Given the description of an element on the screen output the (x, y) to click on. 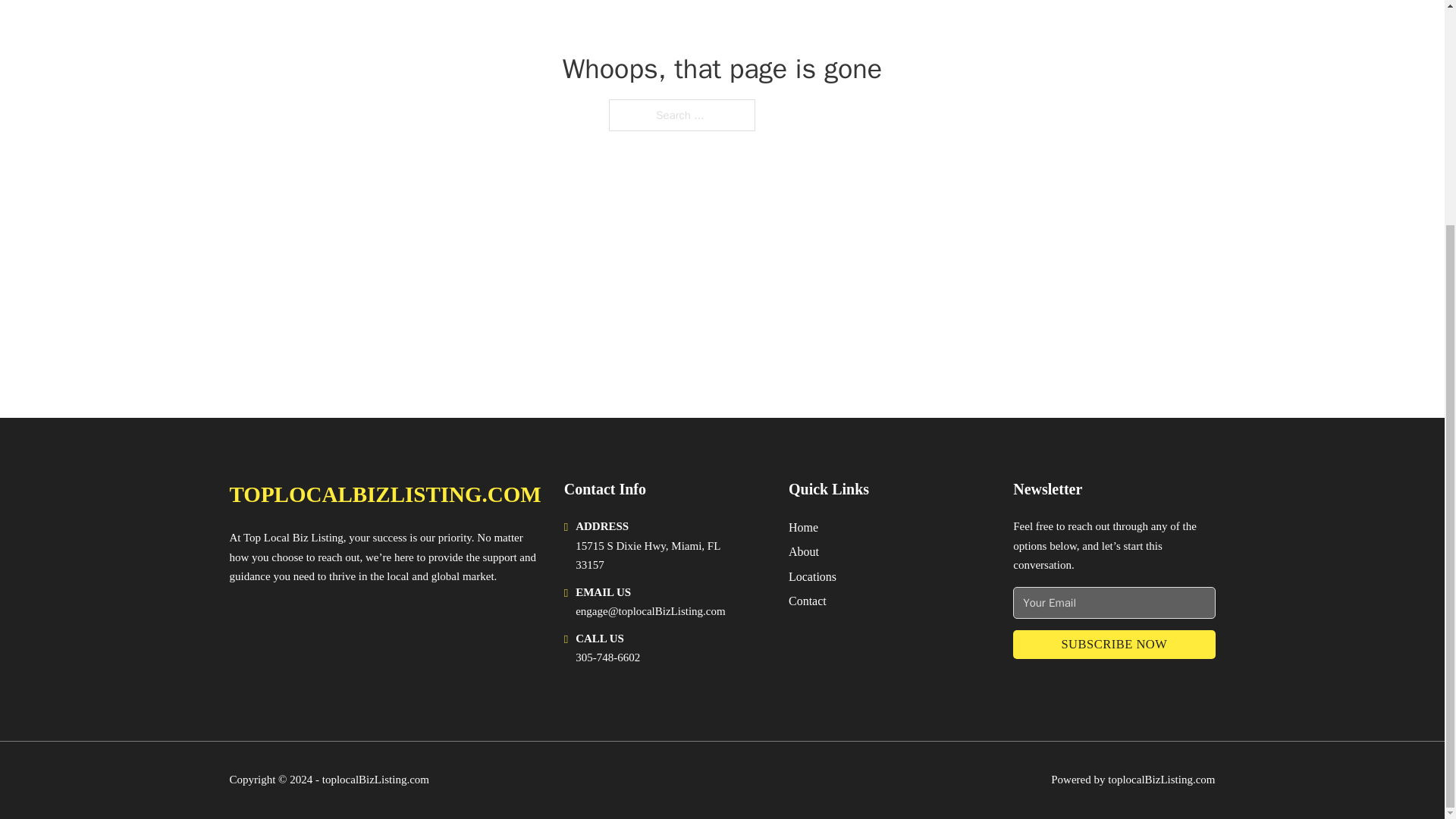
TOPLOCALBIZLISTING.COM (384, 494)
Home (803, 526)
About (803, 551)
SUBSCRIBE NOW (1113, 644)
Contact (808, 600)
Locations (812, 576)
305-748-6602 (607, 657)
